Given the description of an element on the screen output the (x, y) to click on. 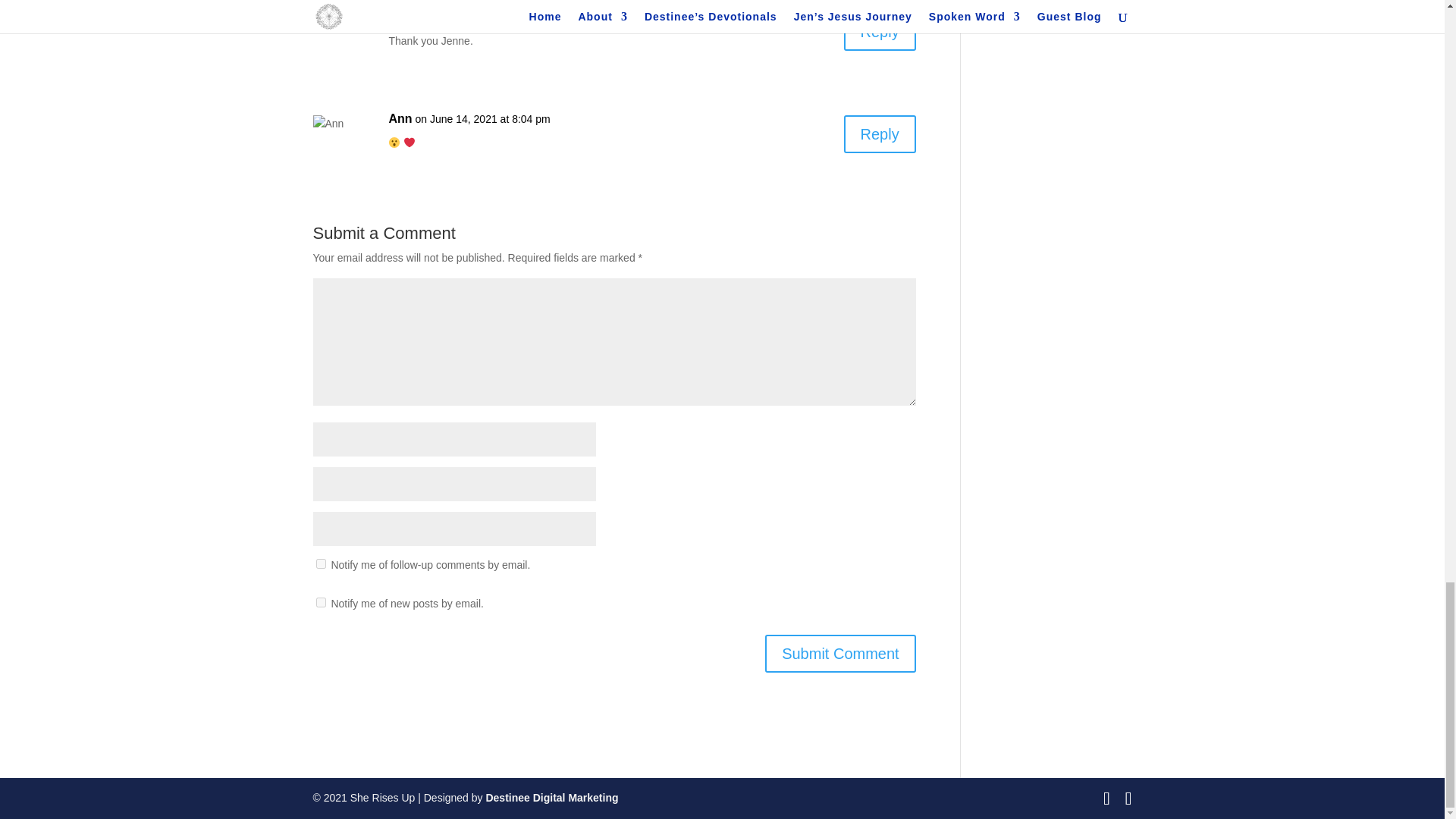
Reply (879, 31)
Reply (879, 134)
subscribe (319, 602)
Destinee Digital Marketing (550, 797)
Submit Comment (840, 653)
Submit Comment (840, 653)
subscribe (319, 563)
